Given the description of an element on the screen output the (x, y) to click on. 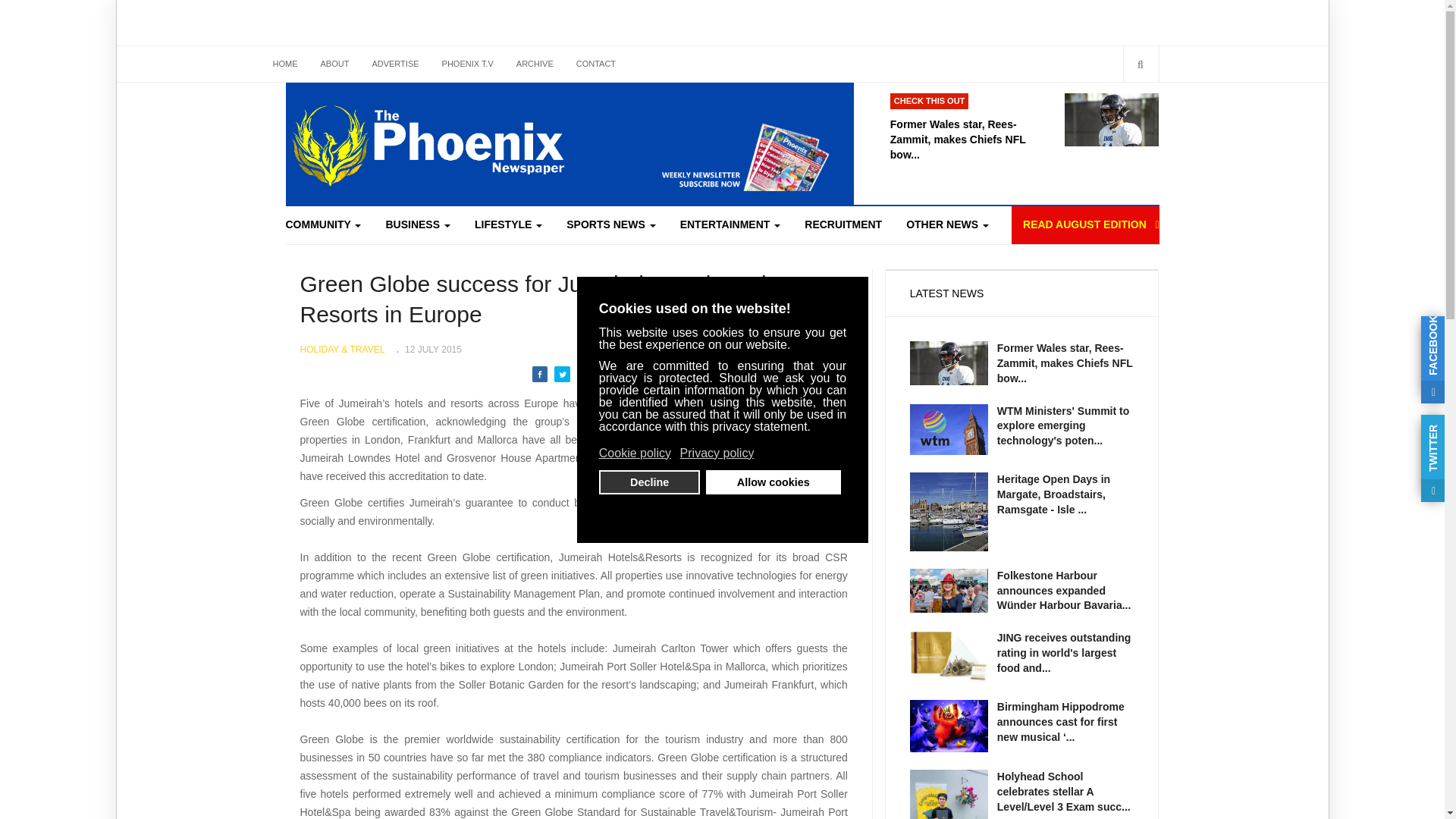
Decline (649, 482)
ADVERTISE (394, 63)
HOME (284, 63)
Subscribe to newsletter (718, 147)
Privacy policy (717, 452)
PHOENIX T.V (467, 63)
Former Wales star, Rees-Zammit, makes Chiefs NFL bow... (977, 127)
ARCHIVE (534, 63)
COMMUNITY (328, 225)
Cookie policy (635, 452)
